Given the description of an element on the screen output the (x, y) to click on. 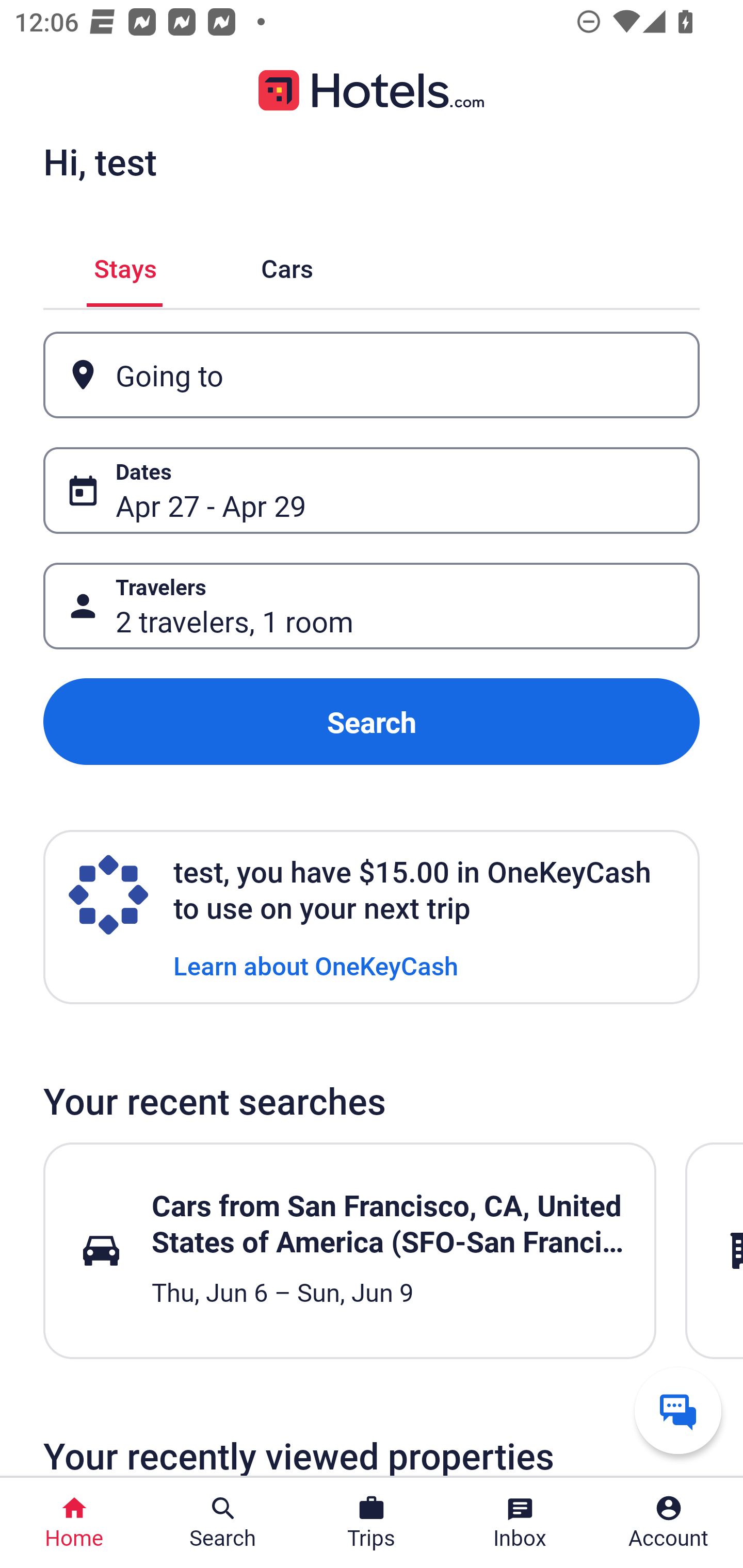
Hi, test (99, 161)
Cars (286, 265)
Going to Button (371, 375)
Dates Button Apr 27 - Apr 29 (371, 489)
Travelers Button 2 travelers, 1 room (371, 605)
Search (371, 721)
Learn about OneKeyCash Learn about OneKeyCash Link (315, 964)
Get help from a virtual agent (677, 1410)
Search Search Button (222, 1522)
Trips Trips Button (371, 1522)
Inbox Inbox Button (519, 1522)
Account Profile. Button (668, 1522)
